Given the description of an element on the screen output the (x, y) to click on. 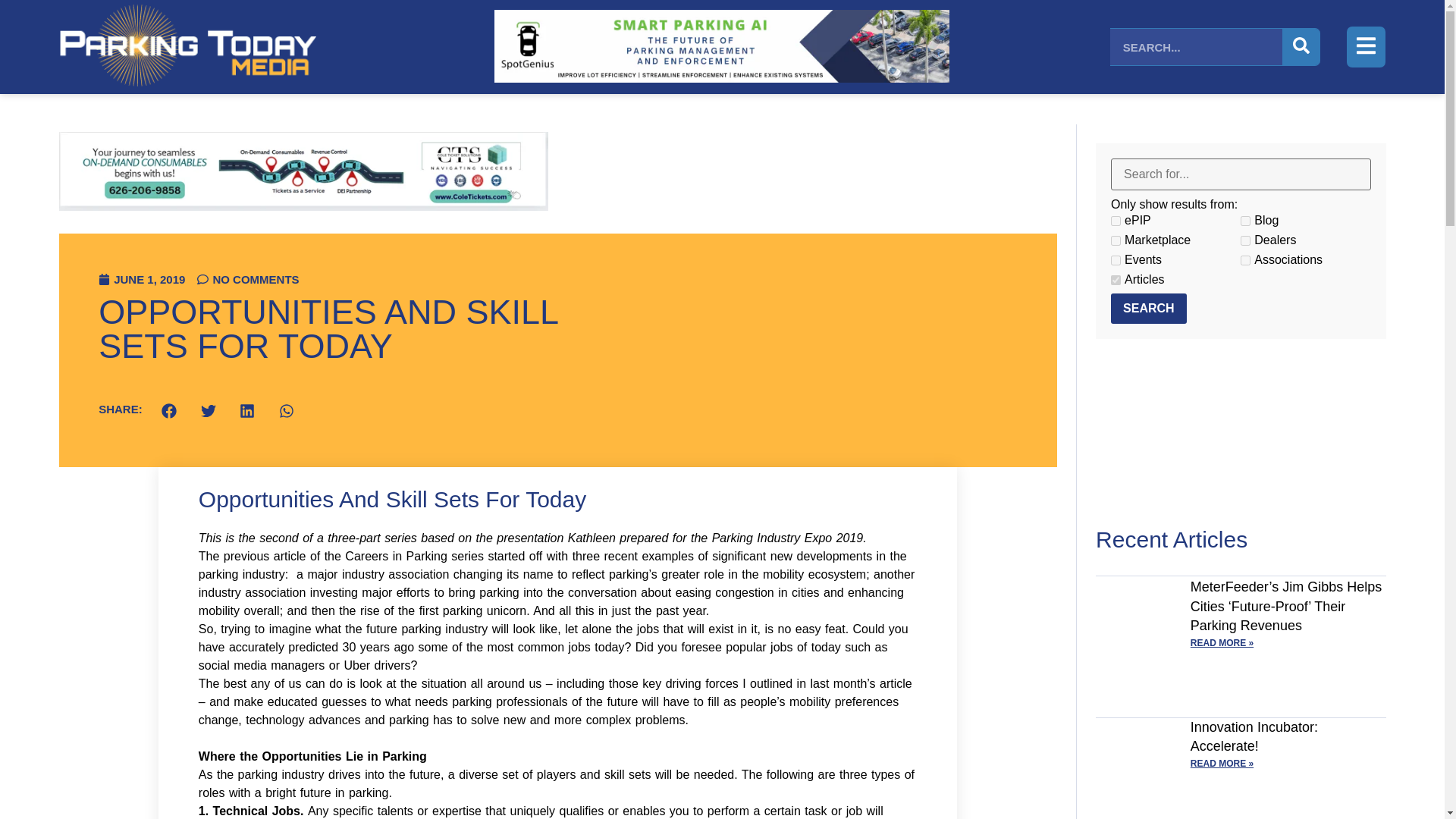
Marketplace (1115, 240)
ePIP (1115, 221)
Events (1115, 260)
Search (1148, 308)
Associations (1245, 260)
Search (1148, 308)
Blog (1245, 221)
NO COMMENTS (247, 279)
Articles (1115, 280)
Innovation Incubator: Accelerate! (1254, 736)
